Given the description of an element on the screen output the (x, y) to click on. 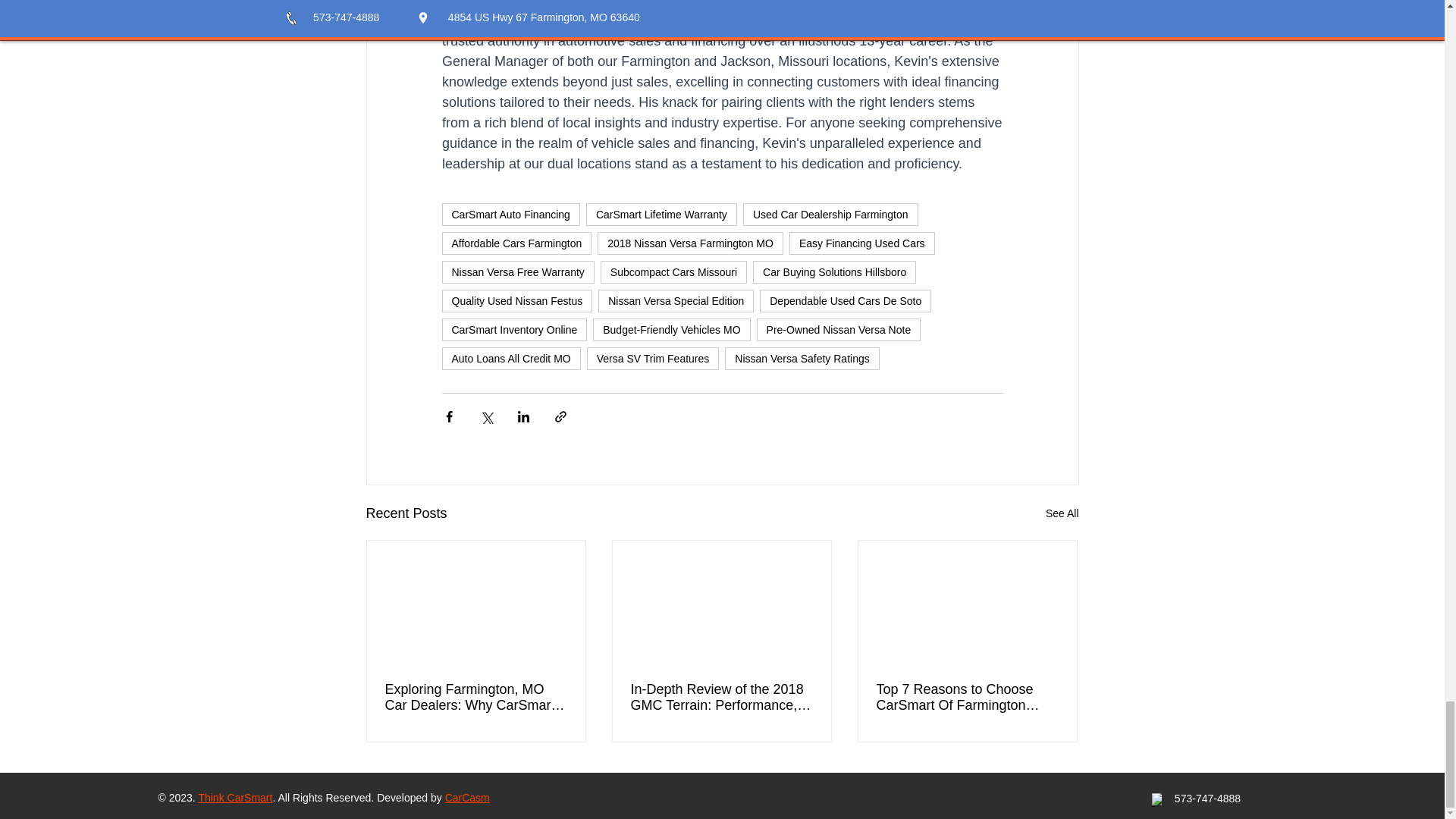
CarSmart Inventory Online (513, 329)
Dependable Used Cars De Soto (845, 300)
Affordable Cars Farmington (516, 242)
Auto Loans All Credit MO (510, 358)
CarSmart Auto Financing (510, 214)
Nissan Versa Safety Ratings (802, 358)
CarSmart Lifetime Warranty (661, 214)
2018 Nissan Versa Farmington MO (689, 242)
Pre-Owned Nissan Versa Note (839, 329)
Used Car Dealership Farmington (830, 214)
Nissan Versa Special Edition (676, 300)
Easy Financing Used Cars (861, 242)
Quality Used Nissan Festus (516, 300)
Budget-Friendly Vehicles MO (670, 329)
See All (1061, 513)
